Given the description of an element on the screen output the (x, y) to click on. 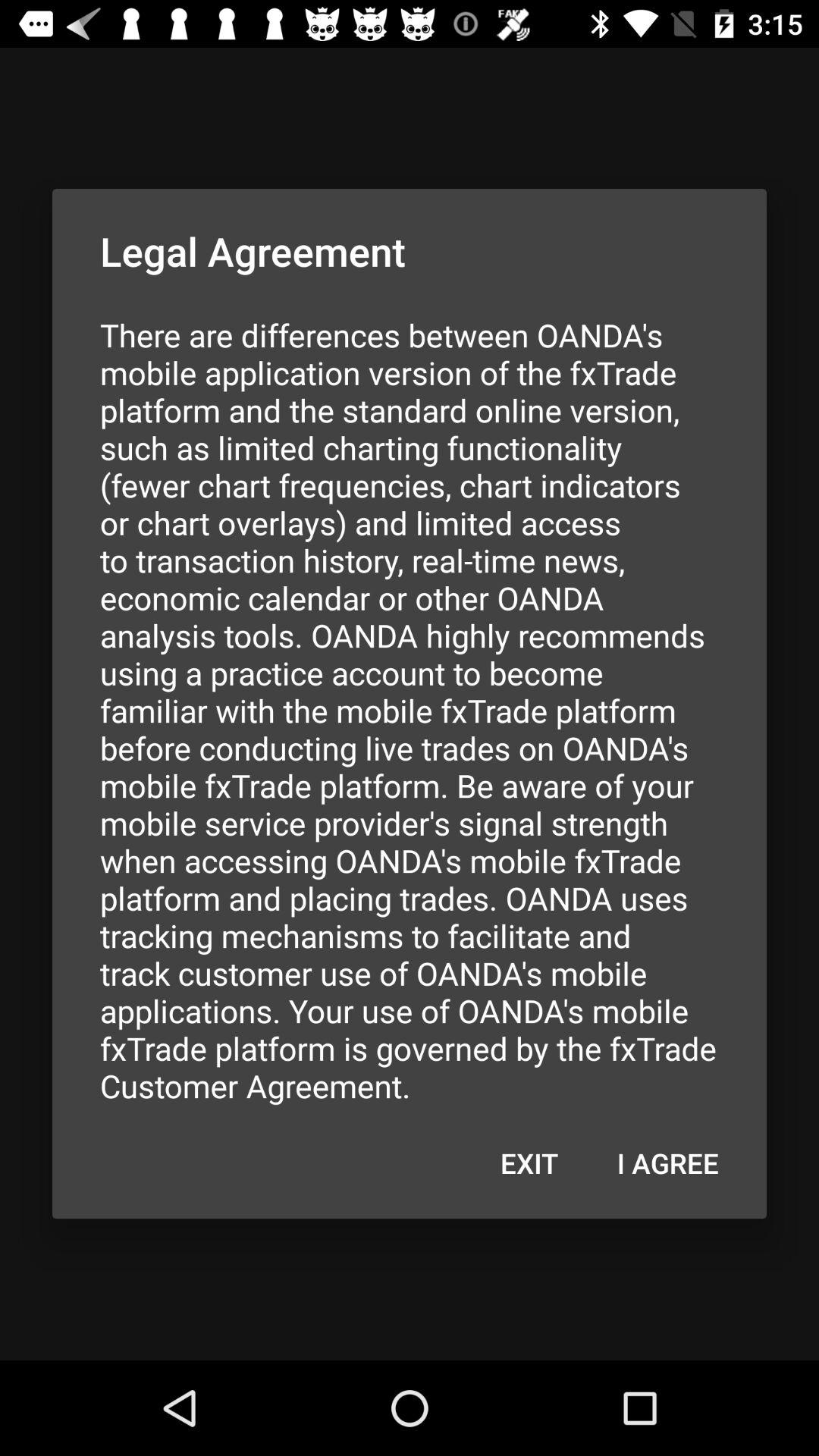
scroll until the i agree icon (667, 1162)
